Given the description of an element on the screen output the (x, y) to click on. 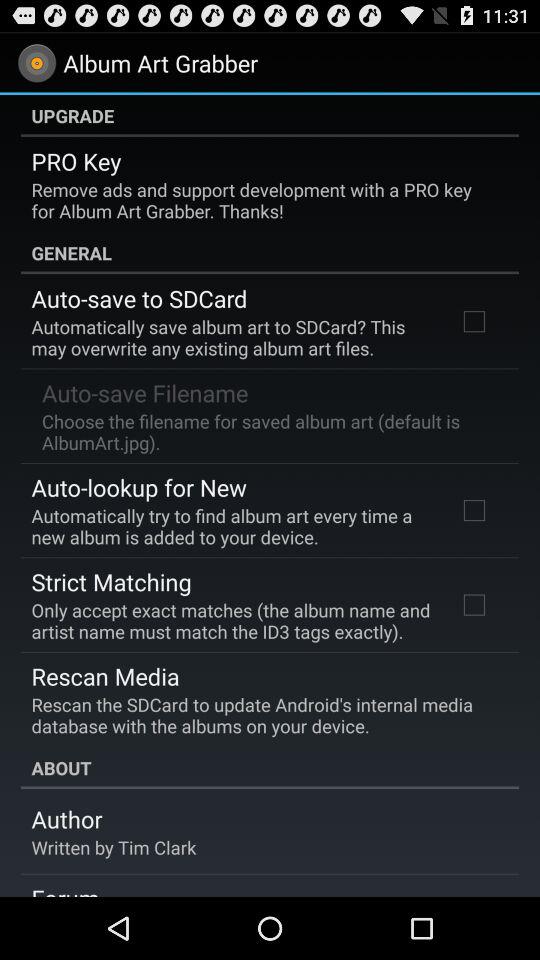
turn on item above the only accept exact icon (111, 581)
